Given the description of an element on the screen output the (x, y) to click on. 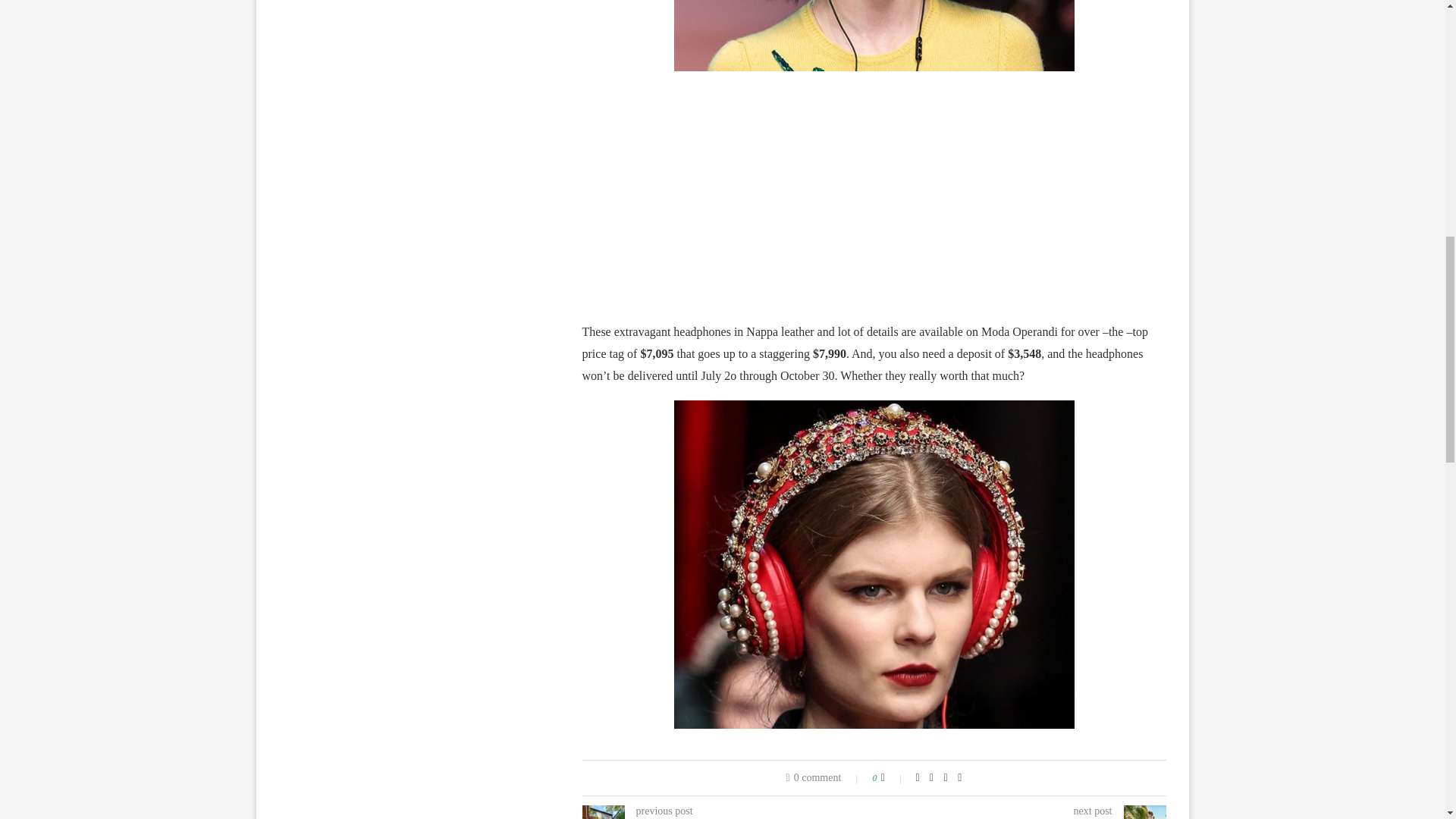
Like (892, 777)
